Given the description of an element on the screen output the (x, y) to click on. 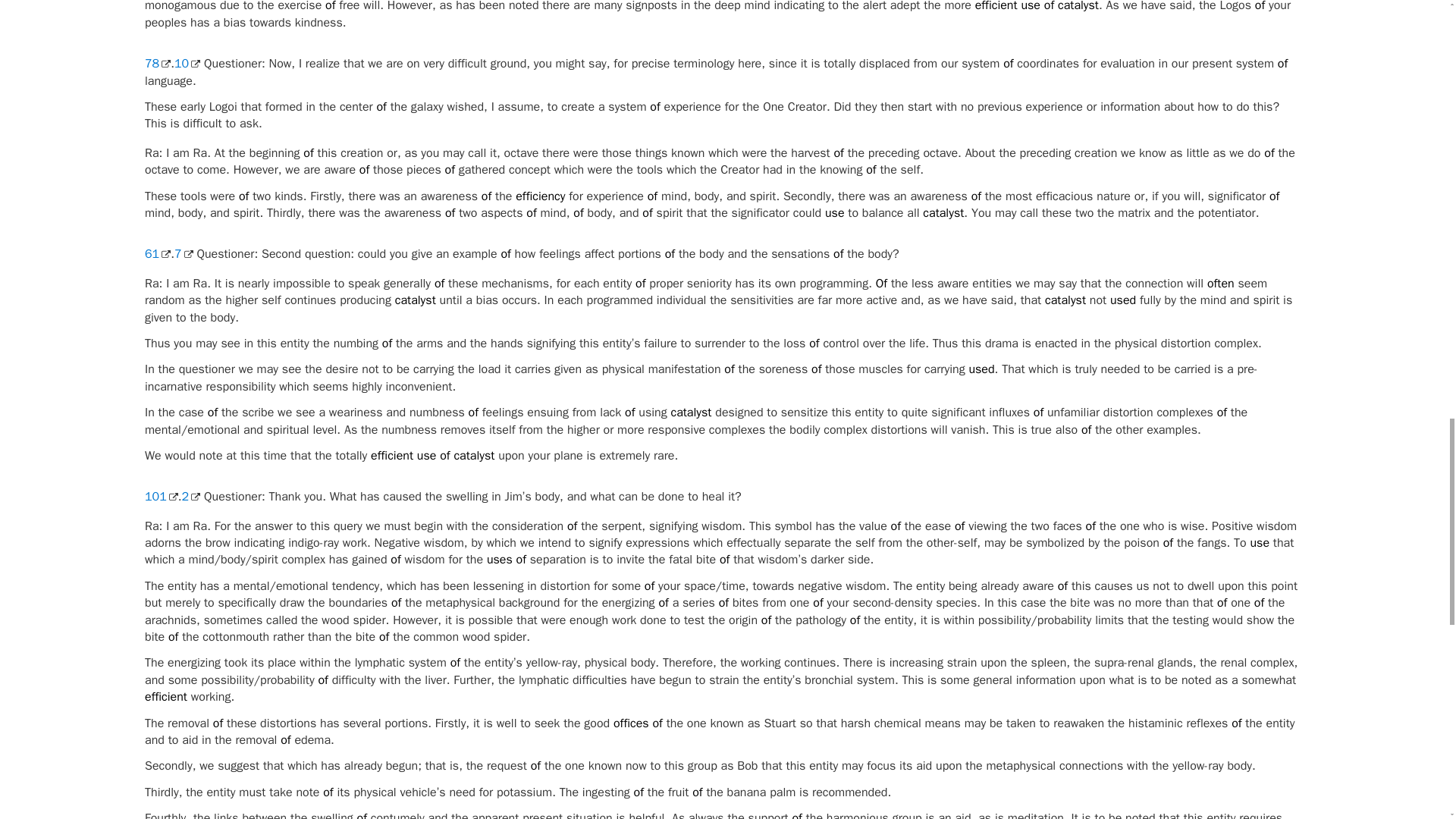
10 (187, 63)
7 (183, 253)
78 (157, 63)
61 (157, 253)
